Given the description of an element on the screen output the (x, y) to click on. 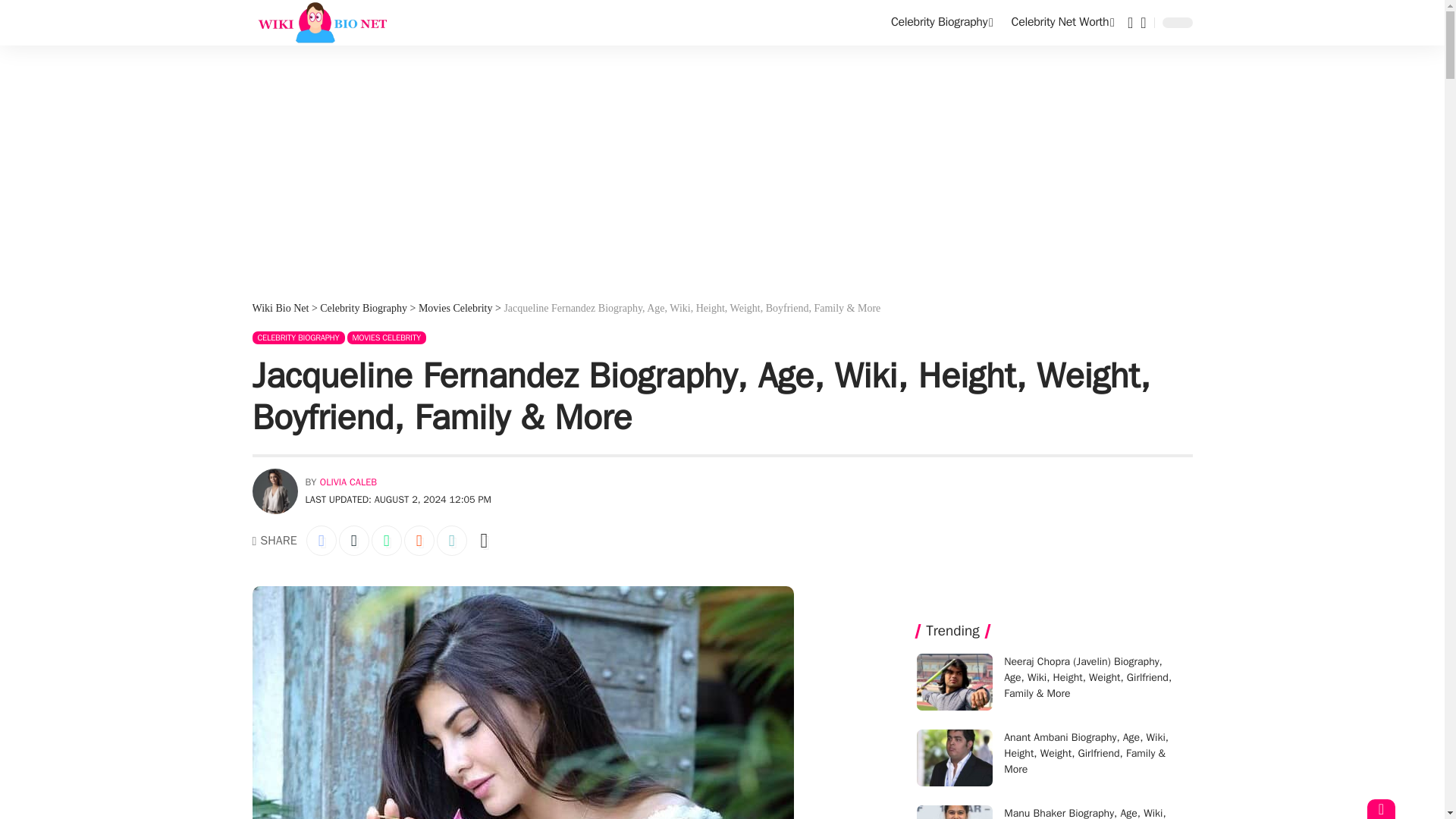
Celebrity Biography (942, 22)
Celebrity Net Worth (1063, 22)
Wiki Bio Net (319, 22)
